Given the description of an element on the screen output the (x, y) to click on. 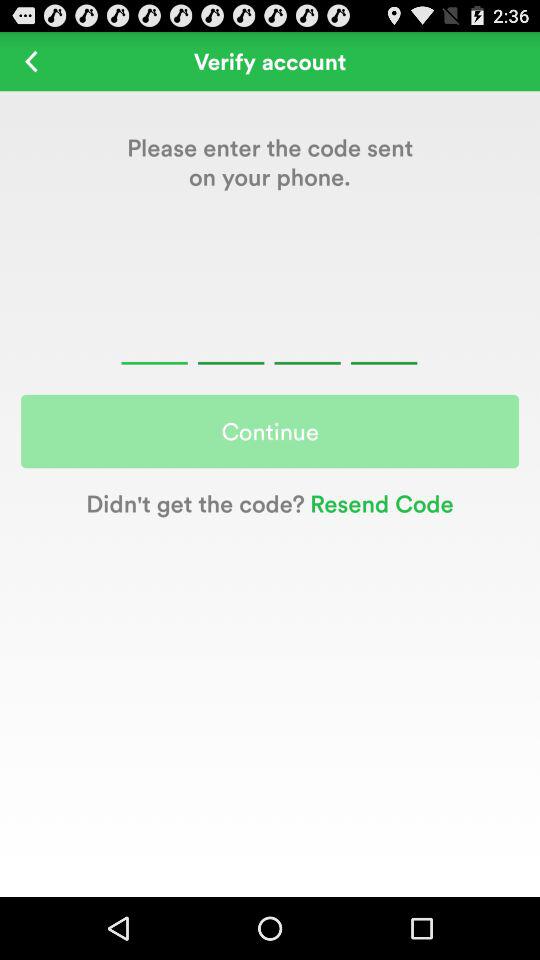
jump to resend code icon (378, 502)
